Given the description of an element on the screen output the (x, y) to click on. 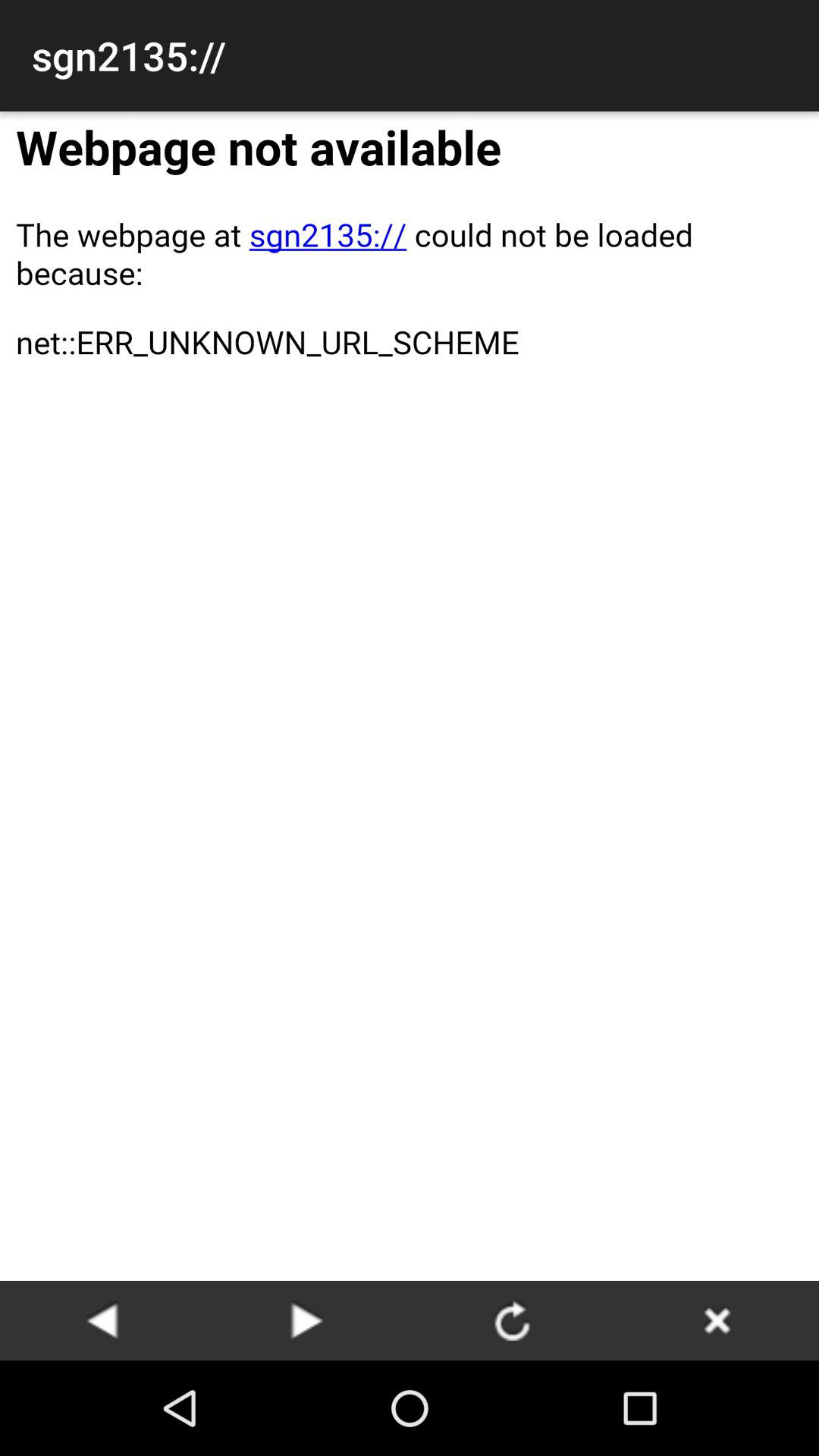
play page (102, 1320)
